Given the description of an element on the screen output the (x, y) to click on. 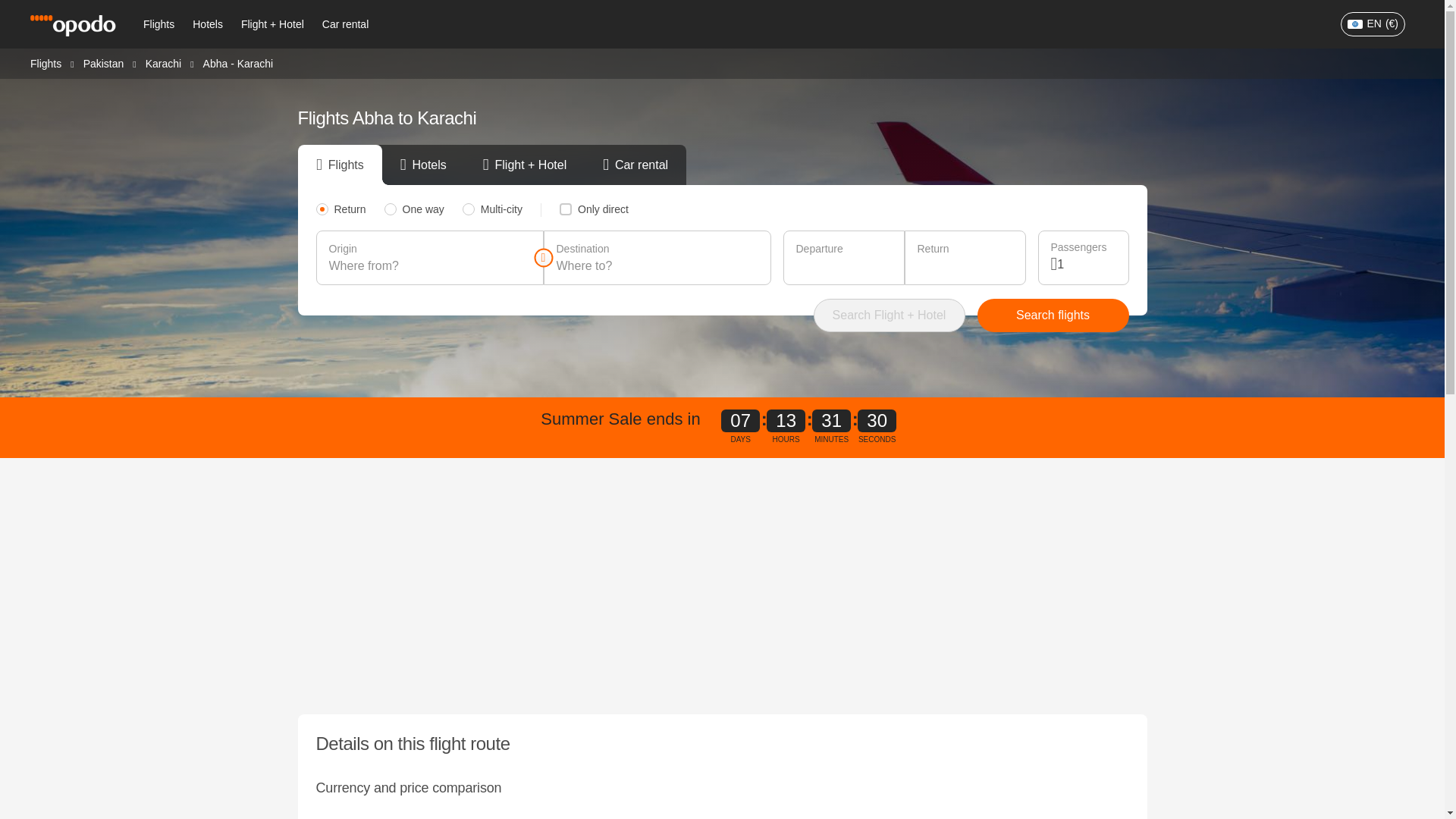
Karachi (162, 62)
Flights (158, 24)
1 (1086, 263)
Abha - Karachi (238, 63)
Car rental (345, 24)
Pakistan (102, 62)
Hotels (207, 24)
Flights (45, 62)
Search flights (1052, 315)
